Given the description of an element on the screen output the (x, y) to click on. 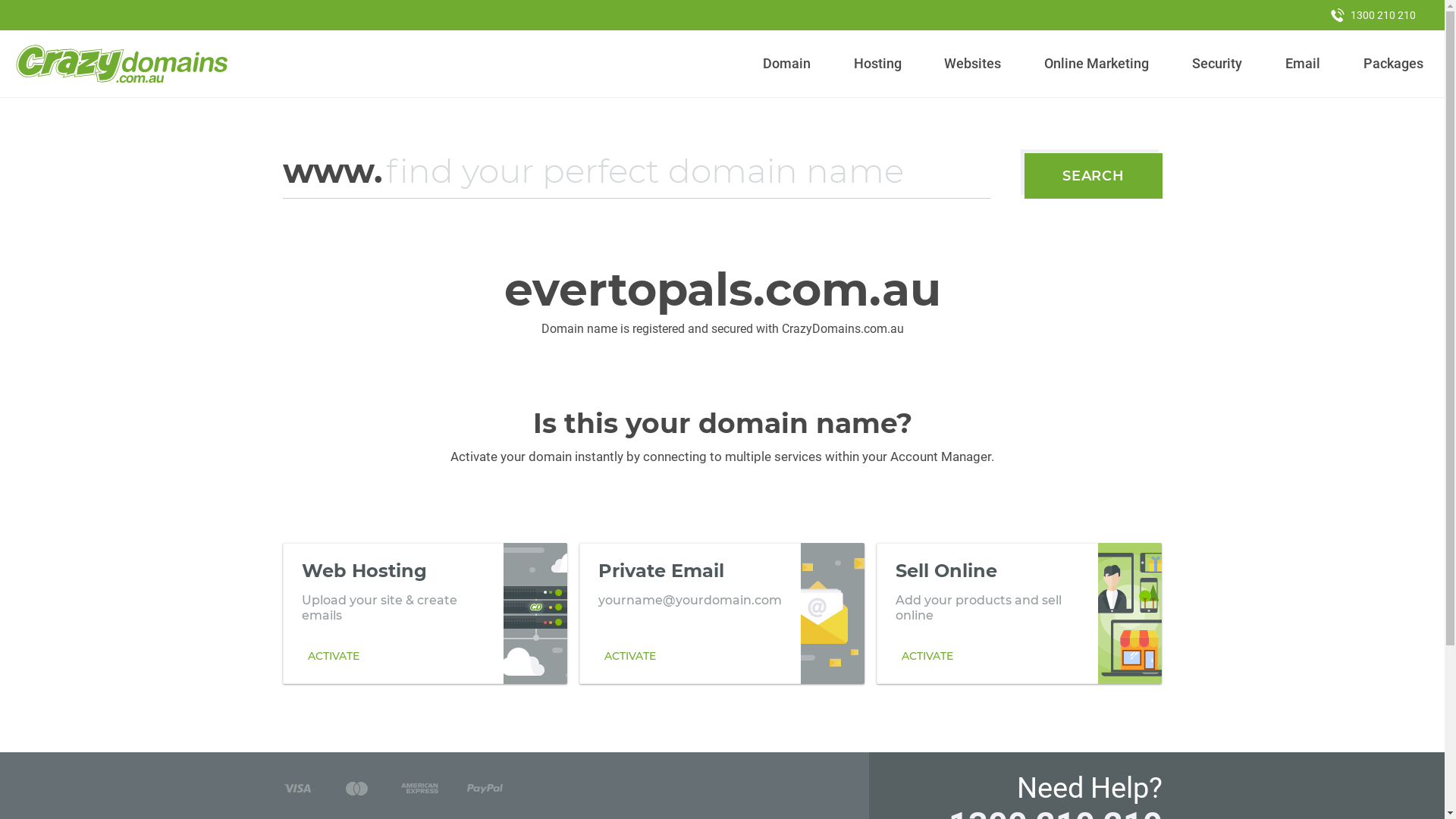
Web Hosting
Upload your site & create emails
ACTIVATE Element type: text (424, 613)
Sell Online
Add your products and sell online
ACTIVATE Element type: text (1018, 613)
Websites Element type: text (972, 63)
1300 210 210 Element type: text (1373, 15)
Domain Element type: text (786, 63)
Online Marketing Element type: text (1096, 63)
Private Email
yourname@yourdomain.com
ACTIVATE Element type: text (721, 613)
SEARCH Element type: text (1092, 175)
Security Element type: text (1217, 63)
Email Element type: text (1302, 63)
Packages Element type: text (1392, 63)
Hosting Element type: text (877, 63)
